Given the description of an element on the screen output the (x, y) to click on. 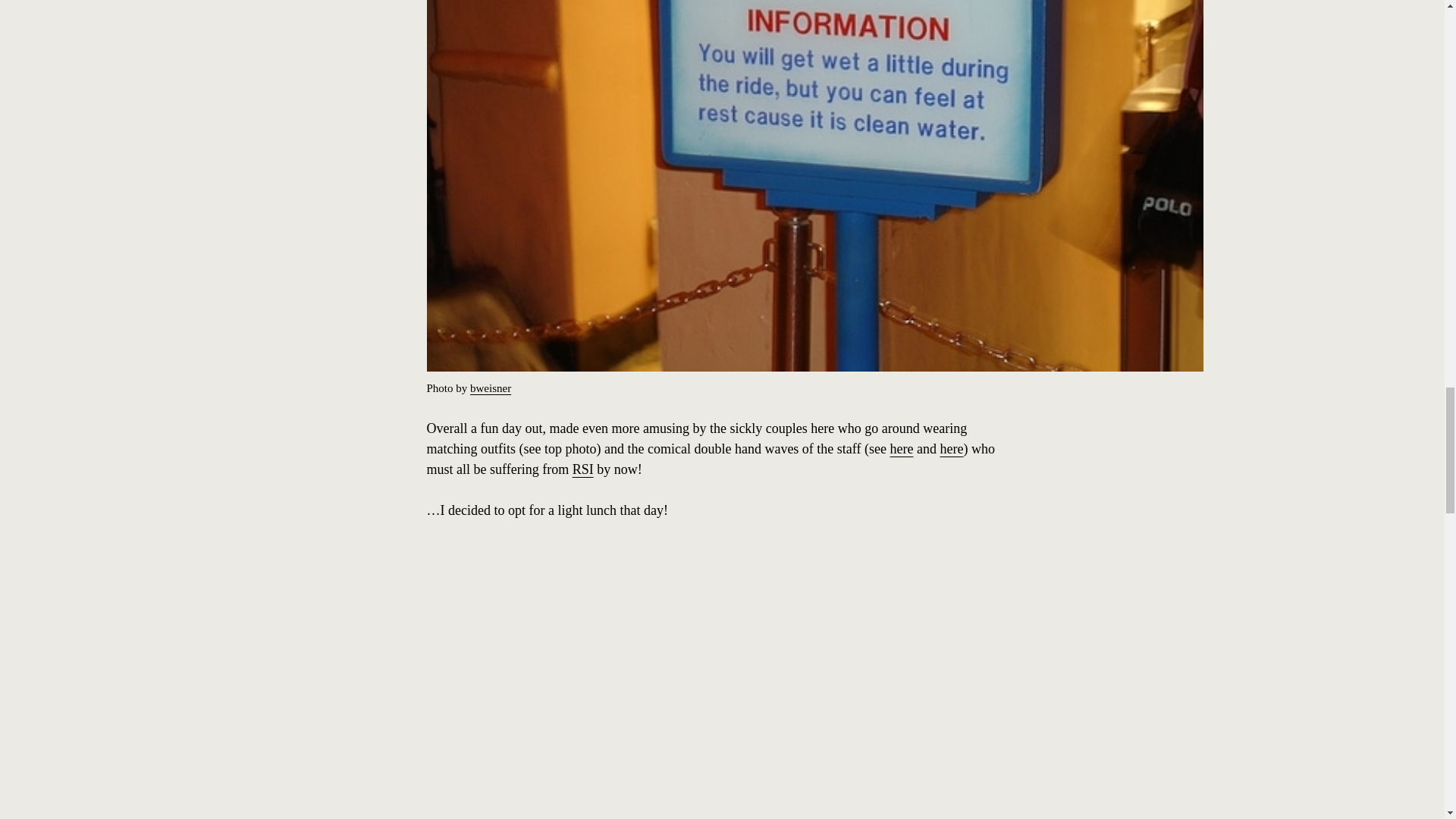
Feel at Rest (814, 366)
